Given the description of an element on the screen output the (x, y) to click on. 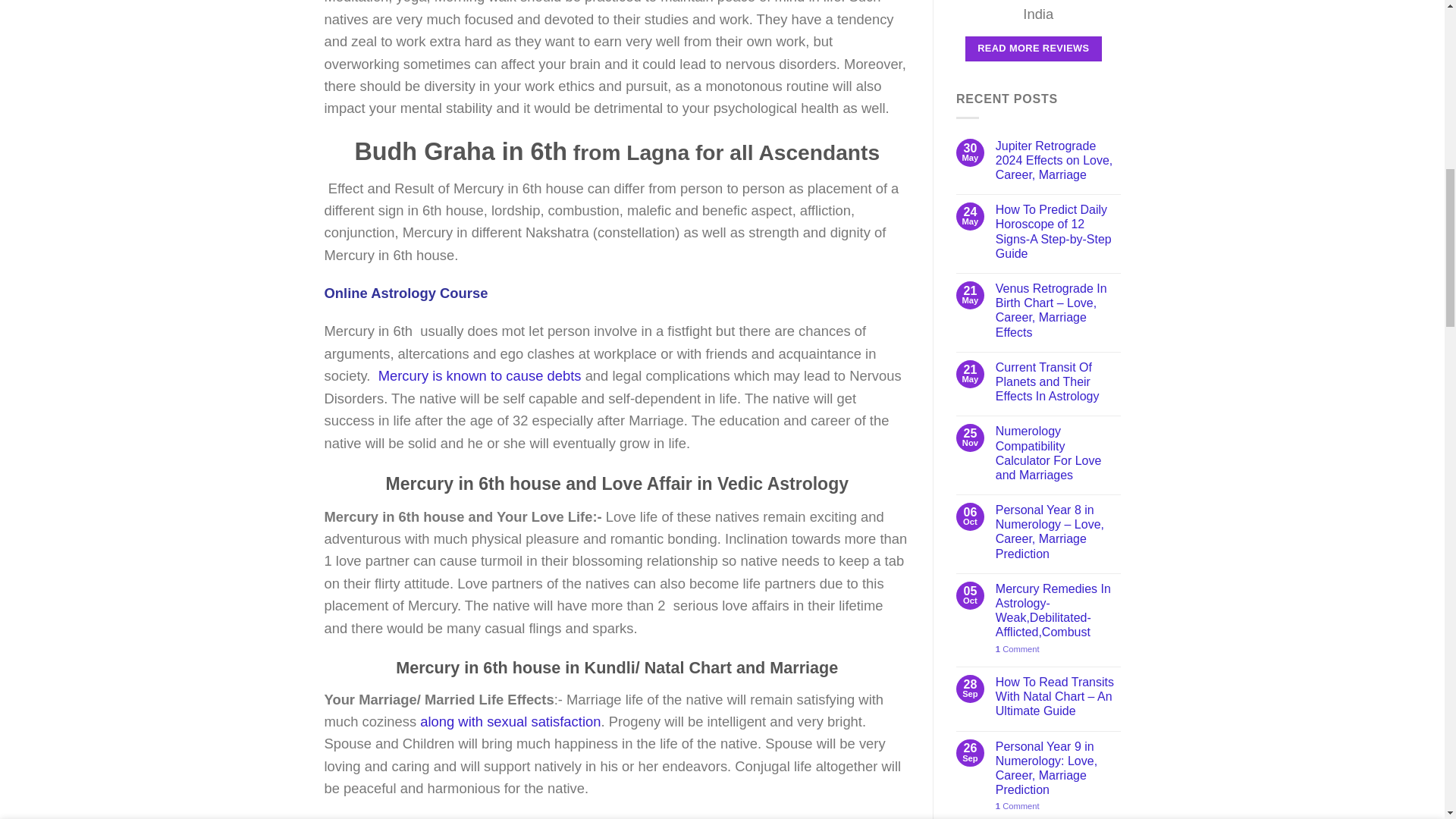
Jupiter Retrograde 2024 Effects on Love, Career, Marriage (1058, 160)
